Given the description of an element on the screen output the (x, y) to click on. 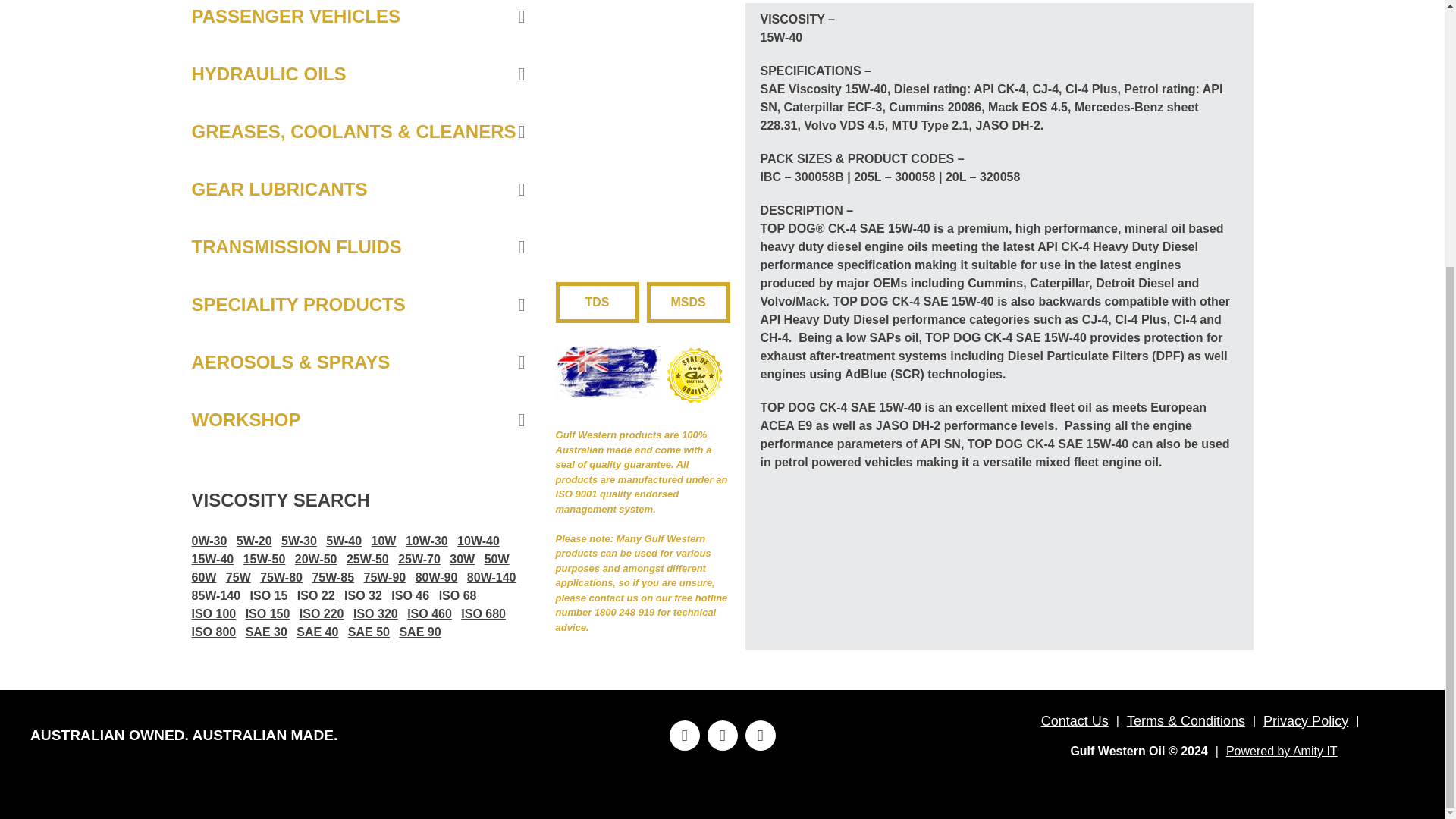
75W (237, 577)
0W-30 (208, 541)
WORKSHOP (357, 419)
5W-40 (343, 541)
TRANSMISSION FLUIDS (357, 247)
10W-30 (427, 541)
SPECIALITY PRODUCTS (357, 304)
25W-70 (419, 559)
PASSENGER VEHICLES (357, 22)
75W-85 (332, 577)
